Given the description of an element on the screen output the (x, y) to click on. 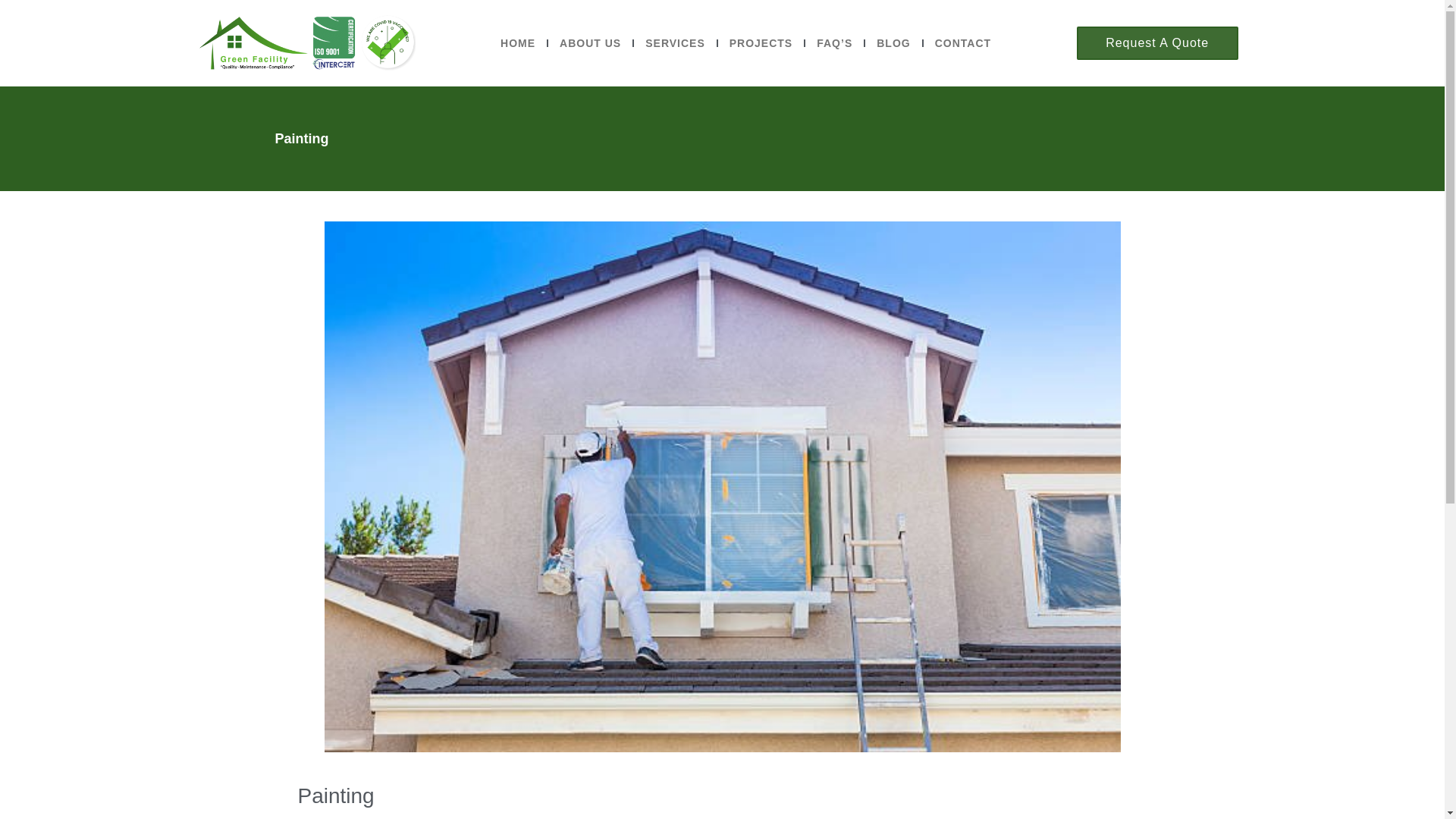
ABOUT US Element type: text (590, 42)
PROJECTS Element type: text (760, 42)
Request A Quote Element type: text (1157, 42)
BLOG Element type: text (893, 42)
CONTACT Element type: text (962, 42)
HOME Element type: text (517, 42)
SERVICES Element type: text (674, 42)
